Given the description of an element on the screen output the (x, y) to click on. 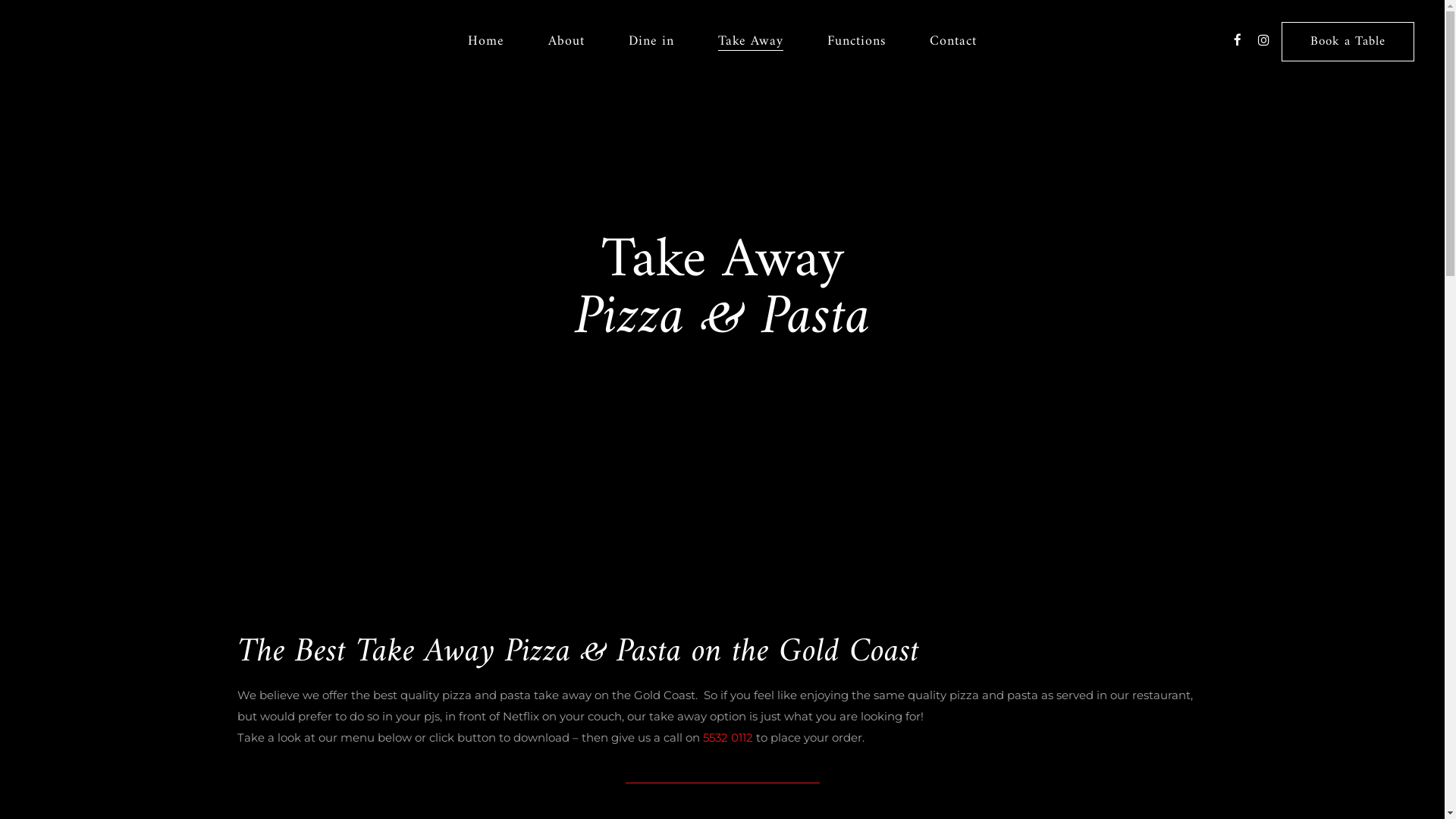
Home Element type: text (485, 41)
Contact Element type: text (952, 41)
5532 0112 Element type: text (727, 737)
Book a Table Element type: text (1347, 41)
Take Away Element type: text (750, 41)
Functions Element type: text (856, 41)
Dine in Element type: text (651, 41)
About Element type: text (566, 41)
